Given the description of an element on the screen output the (x, y) to click on. 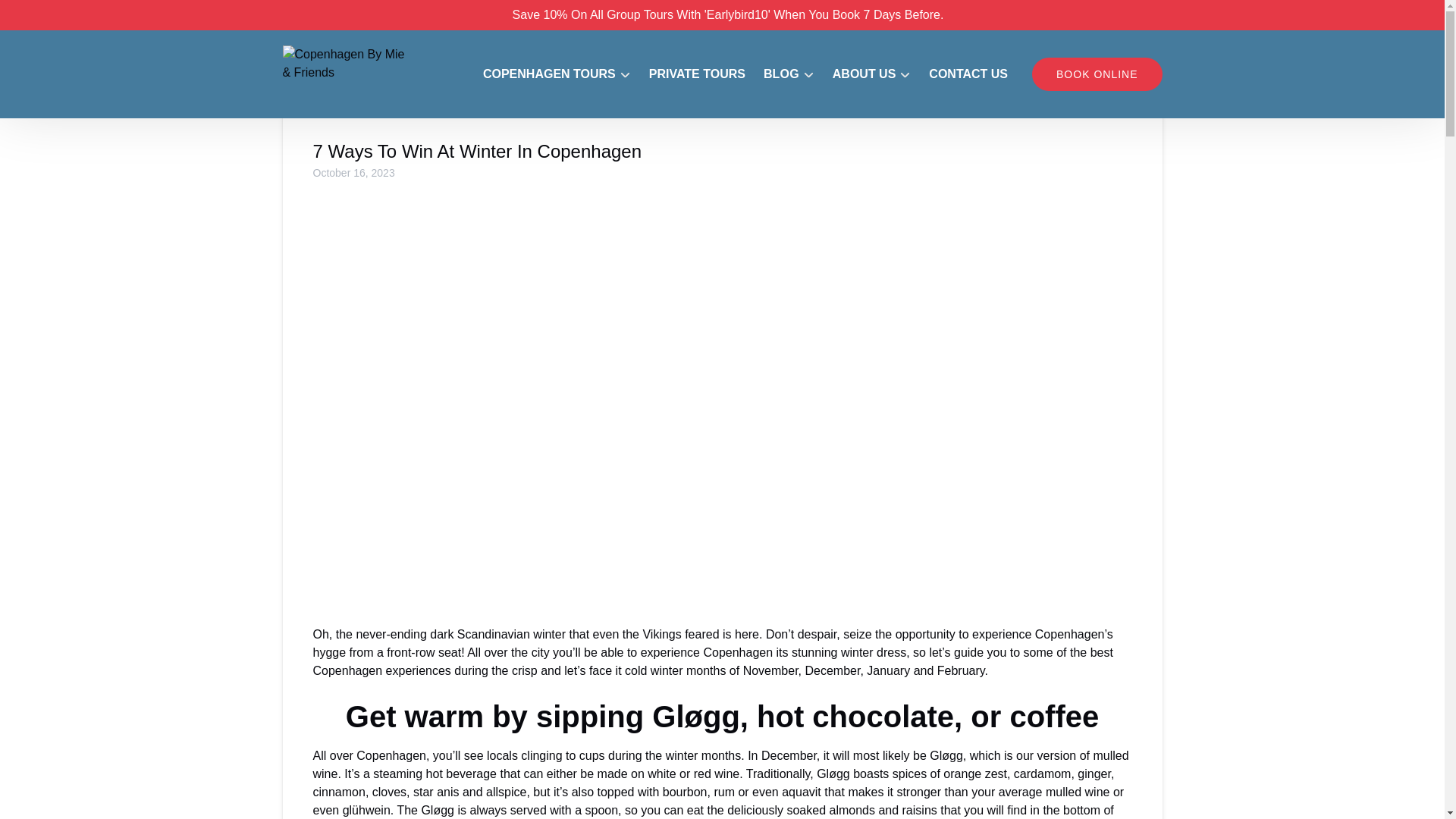
CONTACT US (968, 74)
Skip to content (47, 16)
COPENHAGEN TOURS (557, 74)
BOOK ONLINE (1096, 73)
PRIVATE TOURS (697, 74)
Open About Us Menu (875, 69)
Open Copenhagen Tours Menu (552, 64)
Back to Blog (324, 69)
Skip to footer (42, 16)
Skip to primary navigation (77, 16)
BLOG (789, 74)
ABOUT US (872, 74)
Open Blog Menu (792, 69)
